Given the description of an element on the screen output the (x, y) to click on. 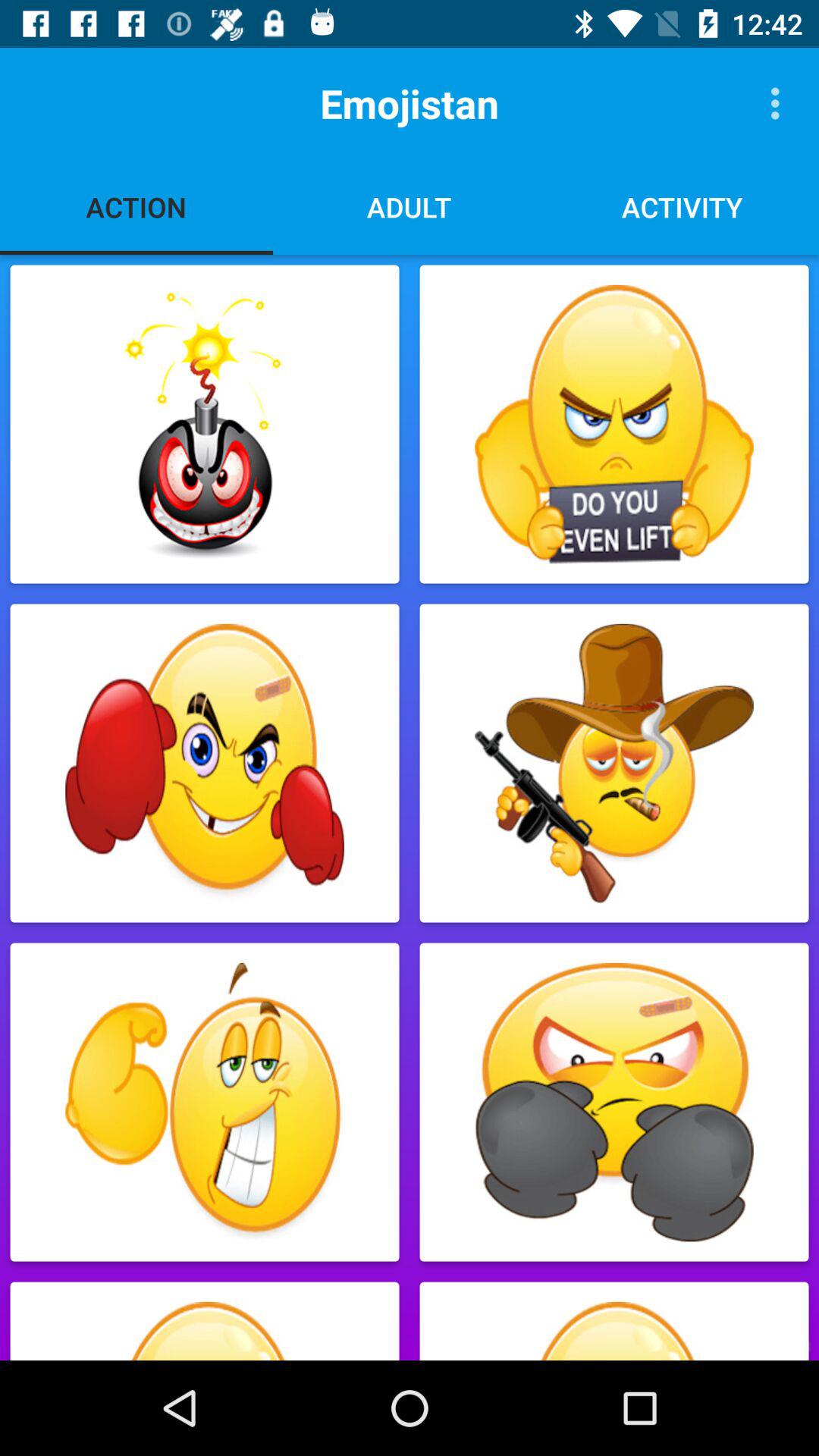
tap the item next to the emojistan icon (779, 103)
